Given the description of an element on the screen output the (x, y) to click on. 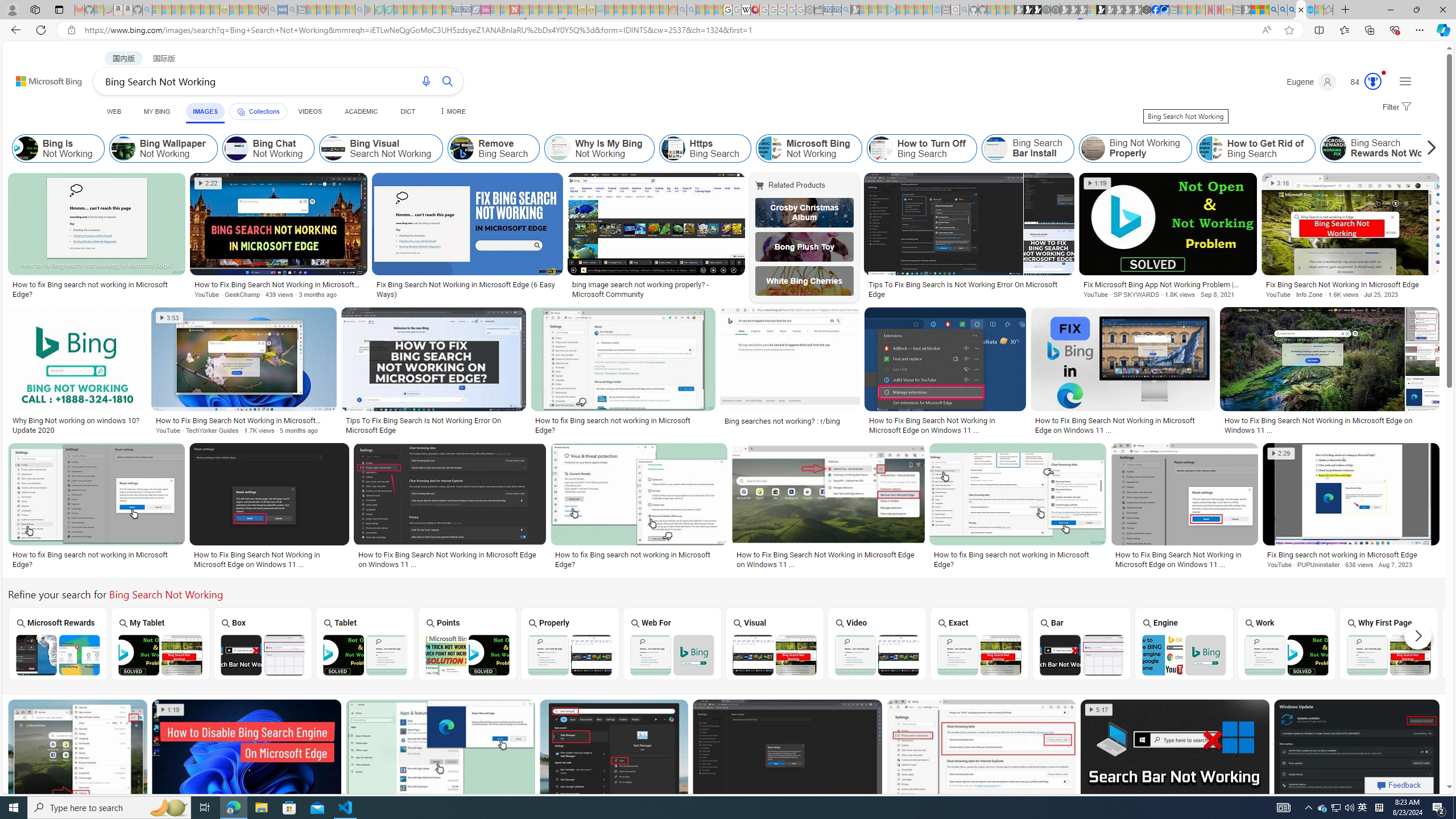
Filter (1395, 107)
Microsoft Bing Not Working (808, 148)
Eugene (1311, 81)
Bing Visual Search Not Working Visual (774, 643)
Image result for Bing Search Not Working (1356, 751)
Microsoft Bing Not Working (769, 148)
Favorites - Sleeping (1328, 9)
Bar (1081, 643)
Dropdown Menu (451, 111)
Bing Visual Search Not Working (381, 148)
